Given the description of an element on the screen output the (x, y) to click on. 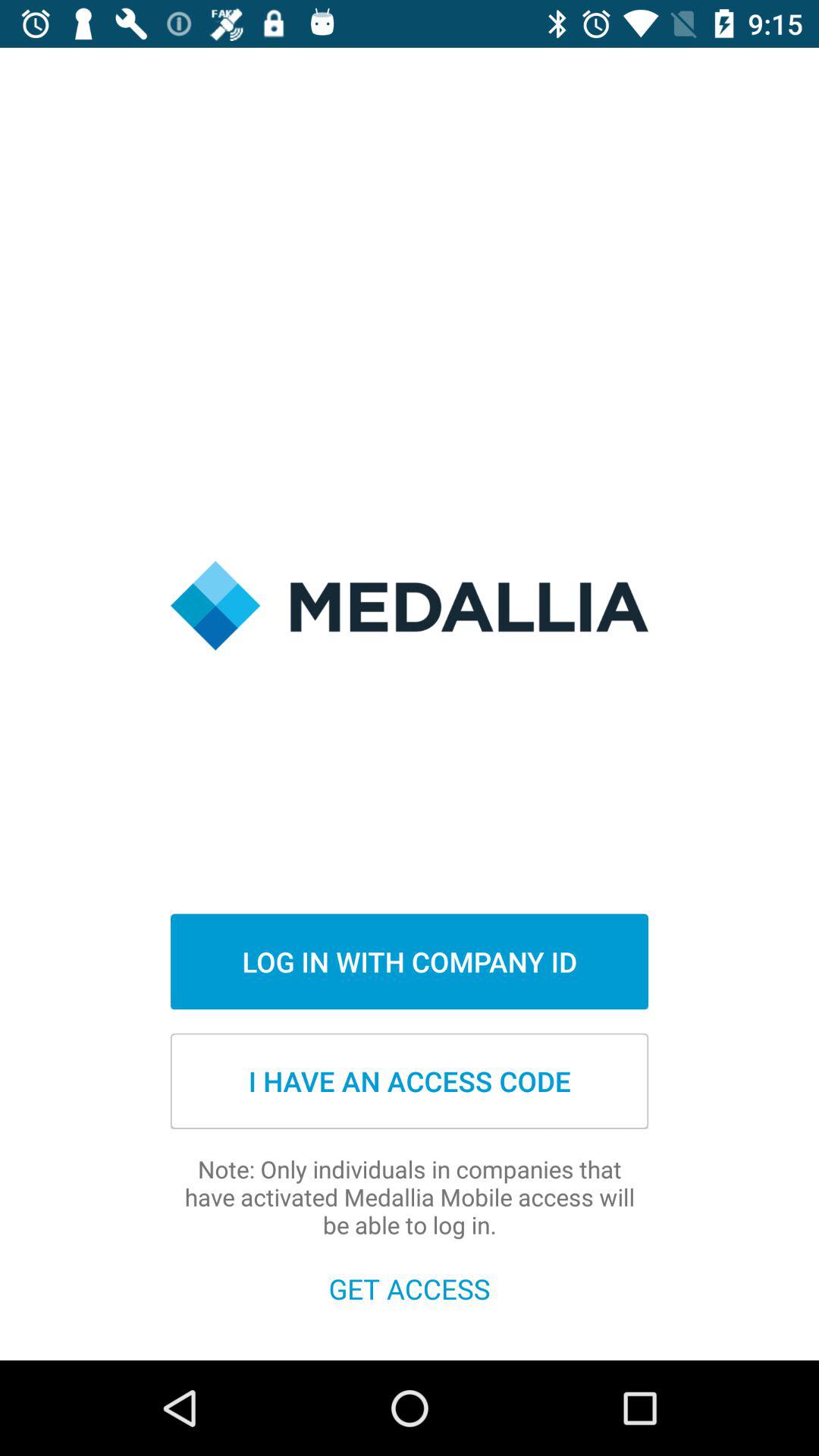
flip to get access icon (409, 1288)
